Given the description of an element on the screen output the (x, y) to click on. 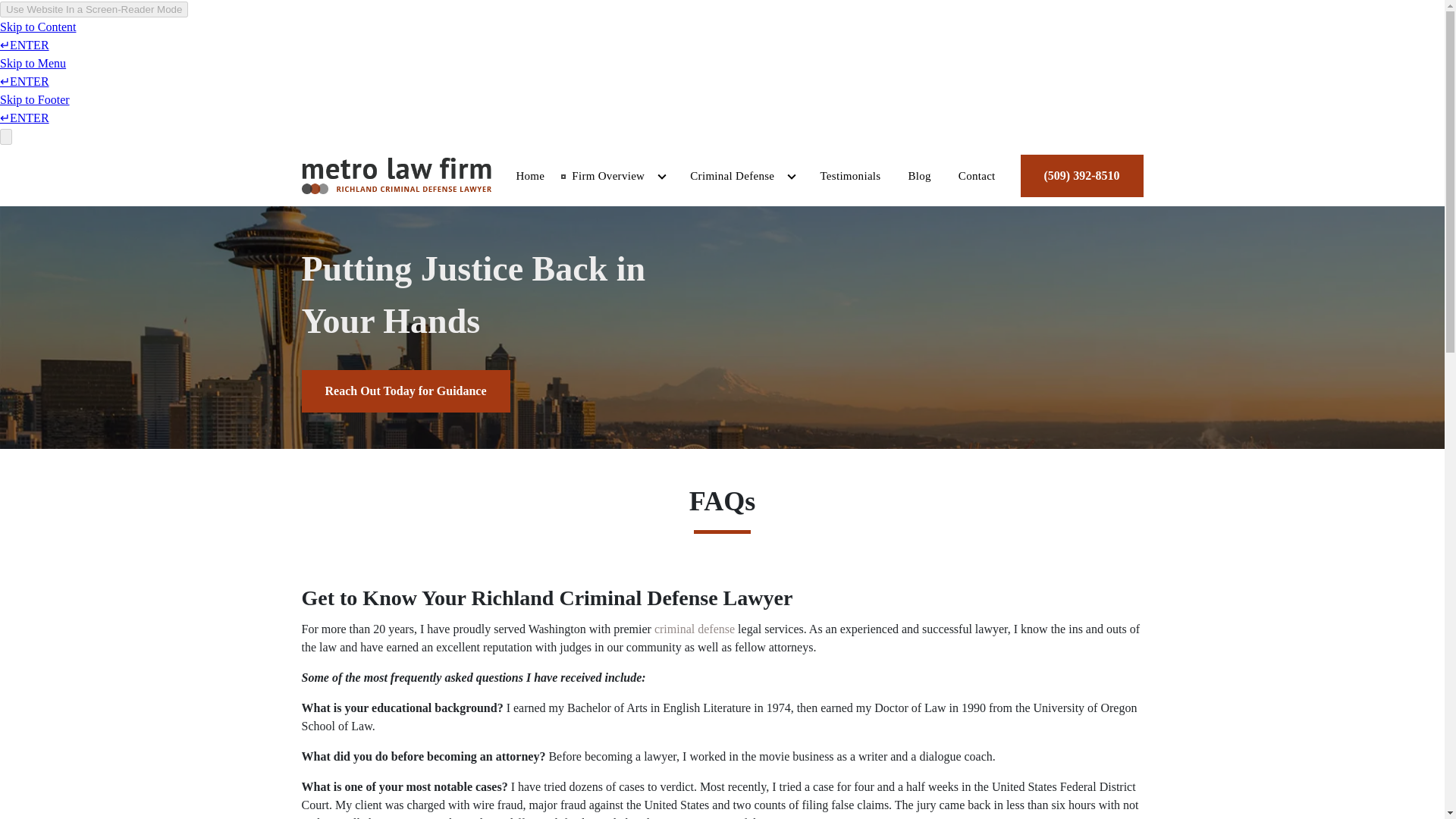
Reach Out Today for Guidance (406, 391)
Criminal Defense (725, 176)
Blog (918, 176)
Contact (976, 176)
Home (529, 176)
Firm Overview (601, 176)
Testimonials (849, 176)
criminal defense (694, 628)
